Given the description of an element on the screen output the (x, y) to click on. 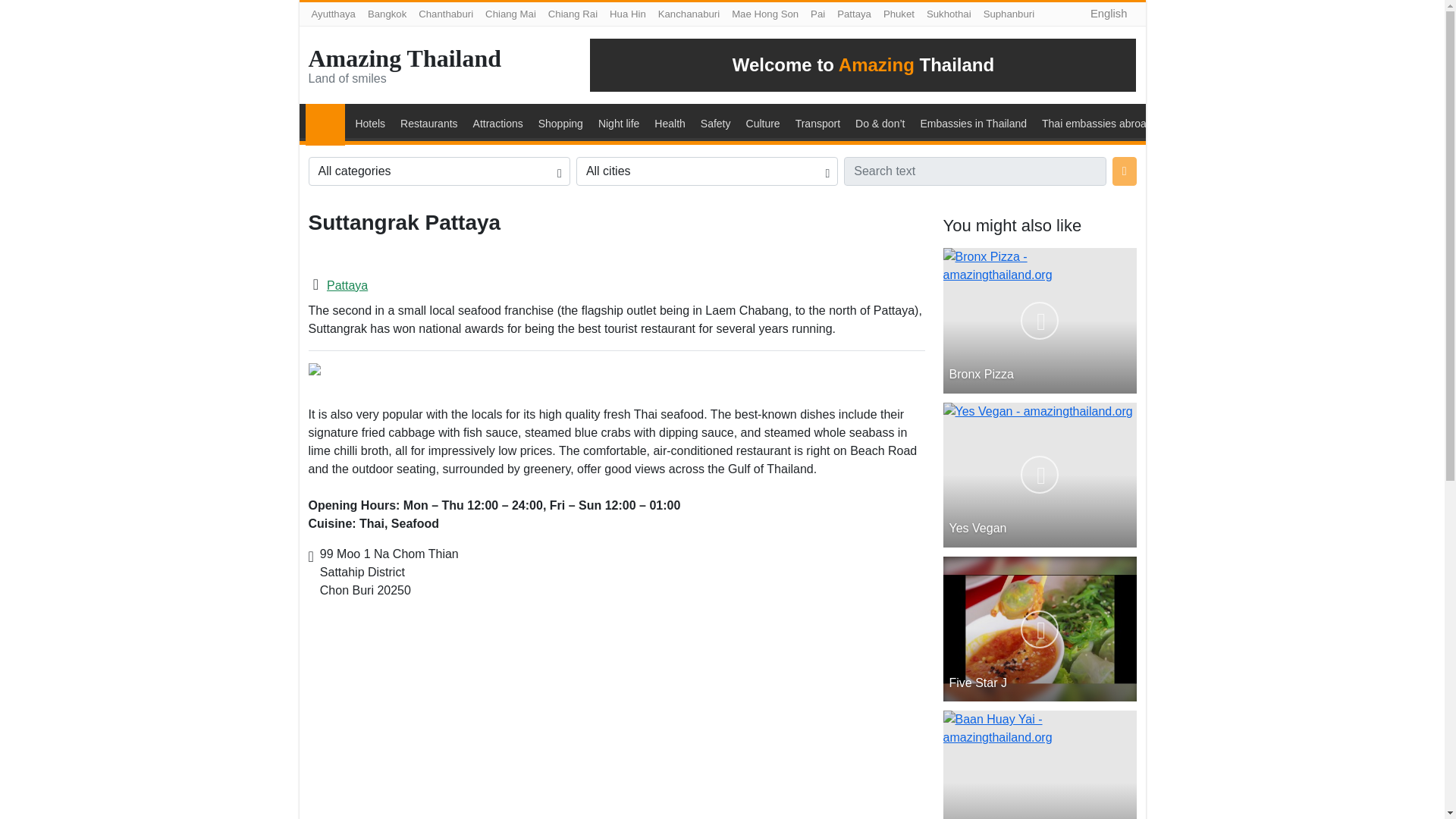
Culture (763, 123)
Sukhothai (948, 13)
Ayutthaya (332, 13)
Home (328, 123)
Transport (818, 123)
Hotels (369, 123)
Shopping (560, 123)
Amazing Thailand (403, 58)
All cities (707, 171)
All categories (438, 171)
